Given the description of an element on the screen output the (x, y) to click on. 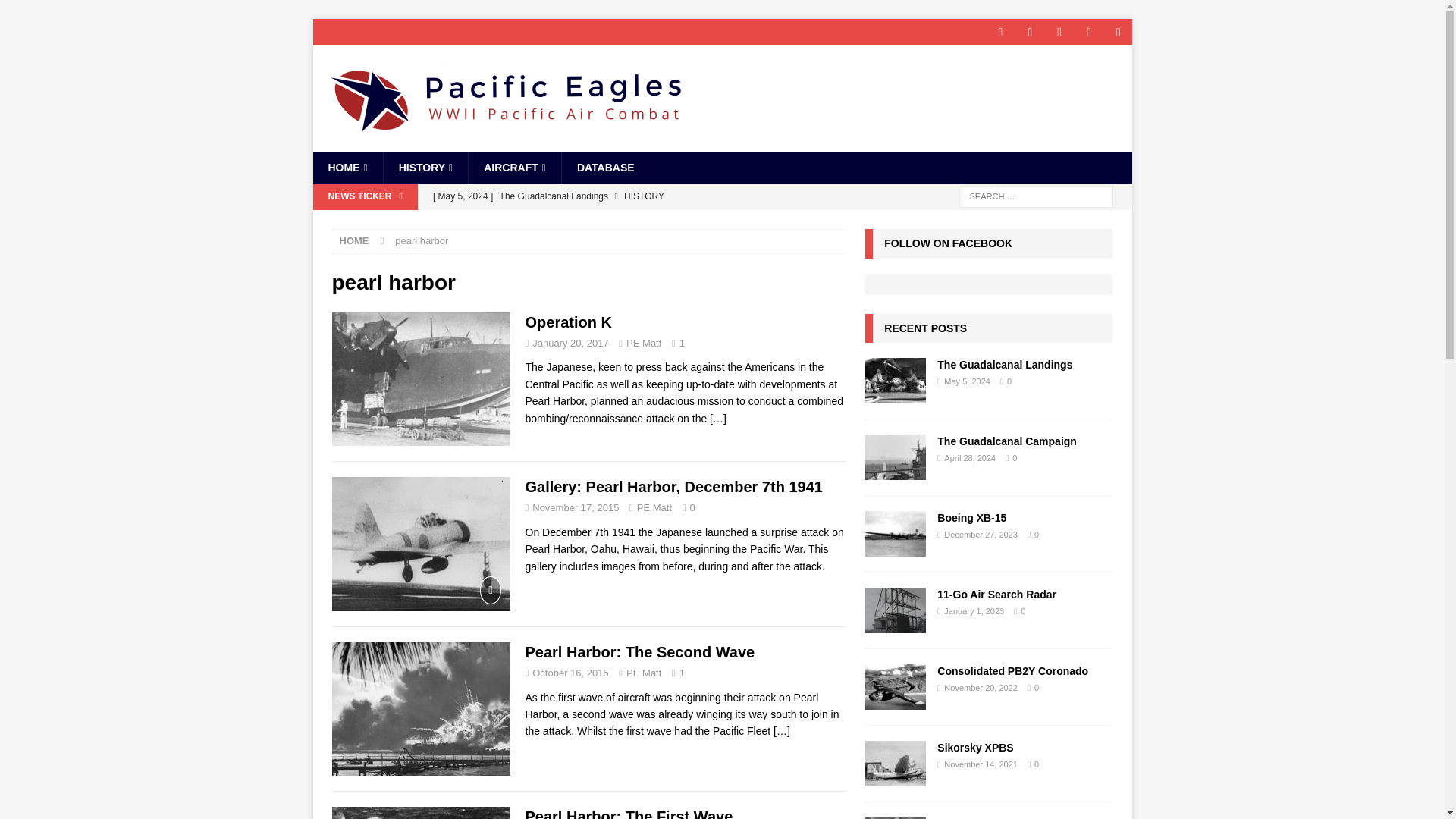
11-Go Air Search Radar (895, 610)
The Guadalcanal Campaign (895, 456)
11-Go Air Search Radar (997, 594)
The Guadalcanal Landings (895, 380)
Boeing XB-15 (895, 533)
The Guadalcanal Campaign (634, 222)
Pearl Harbor: The Second Wave (781, 730)
Boeing XB-15 (971, 517)
Operation K (718, 418)
The Guadalcanal Landings (1004, 364)
The Guadalcanal Campaign (1007, 440)
The Guadalcanal Landings (634, 196)
